Given the description of an element on the screen output the (x, y) to click on. 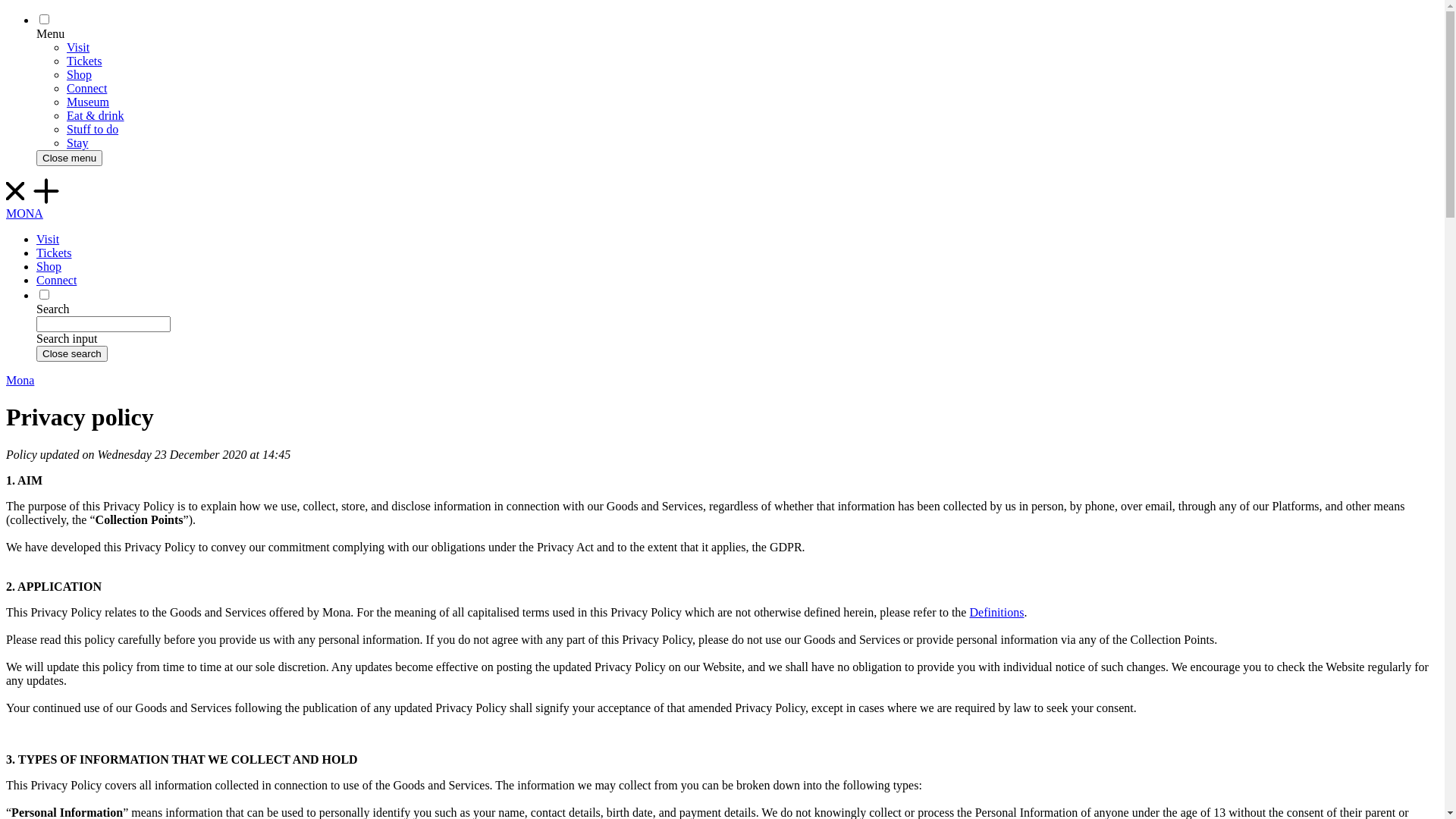
Close search Element type: text (71, 353)
Connect Element type: text (86, 87)
Tickets Element type: text (54, 252)
Tickets Element type: text (84, 60)
Stay Element type: text (76, 142)
Mona Element type: text (20, 379)
Eat & drink Element type: text (95, 115)
Visit Element type: text (77, 46)
Shop Element type: text (78, 74)
MONA Element type: text (722, 199)
Visit Element type: text (47, 238)
Museum Element type: text (87, 101)
Connect Element type: text (56, 279)
Close menu Element type: text (69, 158)
Stuff to do Element type: text (92, 128)
Definitions Element type: text (996, 611)
Shop Element type: text (48, 266)
